Given the description of an element on the screen output the (x, y) to click on. 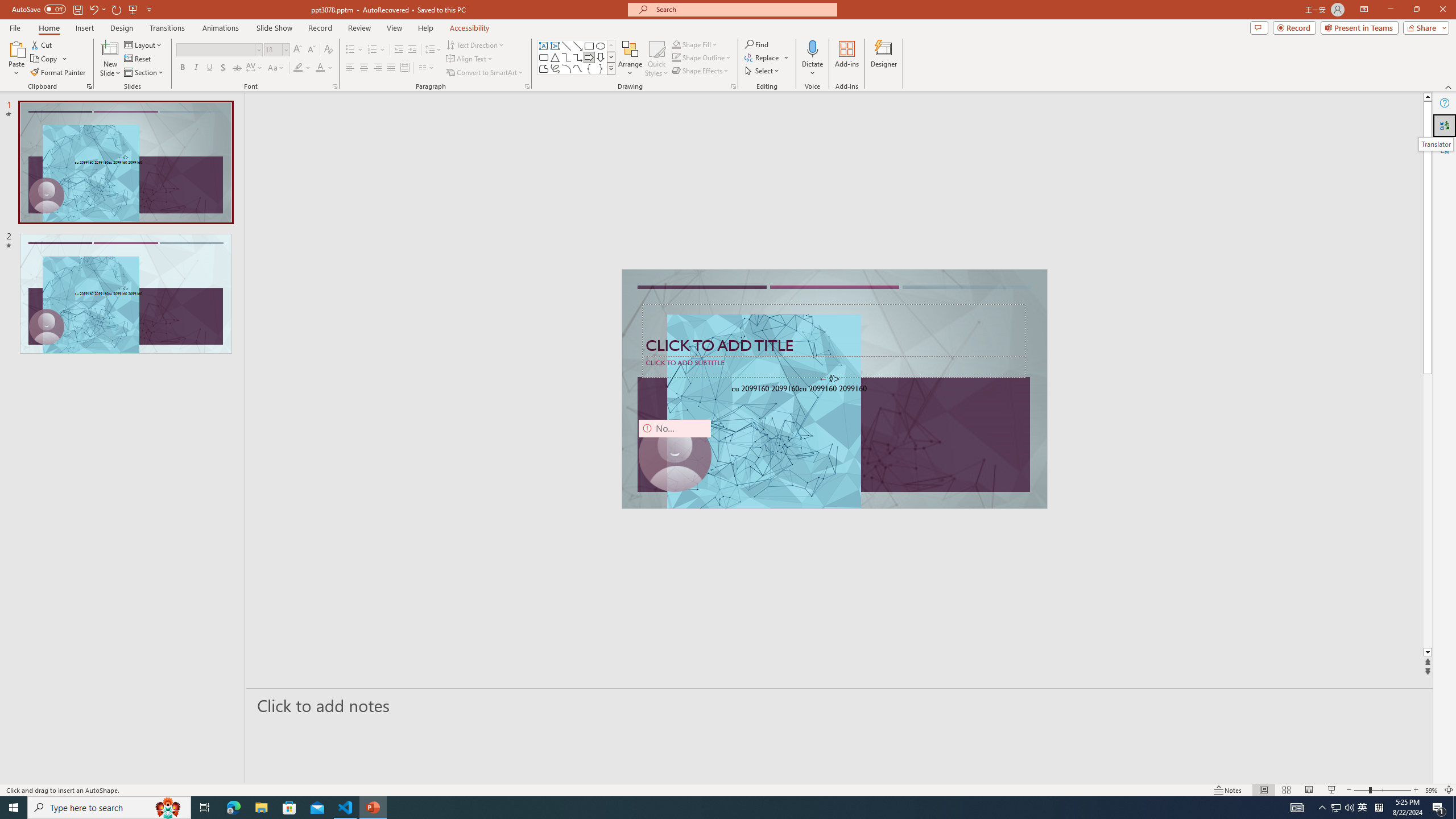
TextBox 61 (833, 389)
Shape Outline Green, Accent 1 (675, 56)
Zoom 59% (1431, 790)
Camera 9, No camera detected. (674, 455)
